Given the description of an element on the screen output the (x, y) to click on. 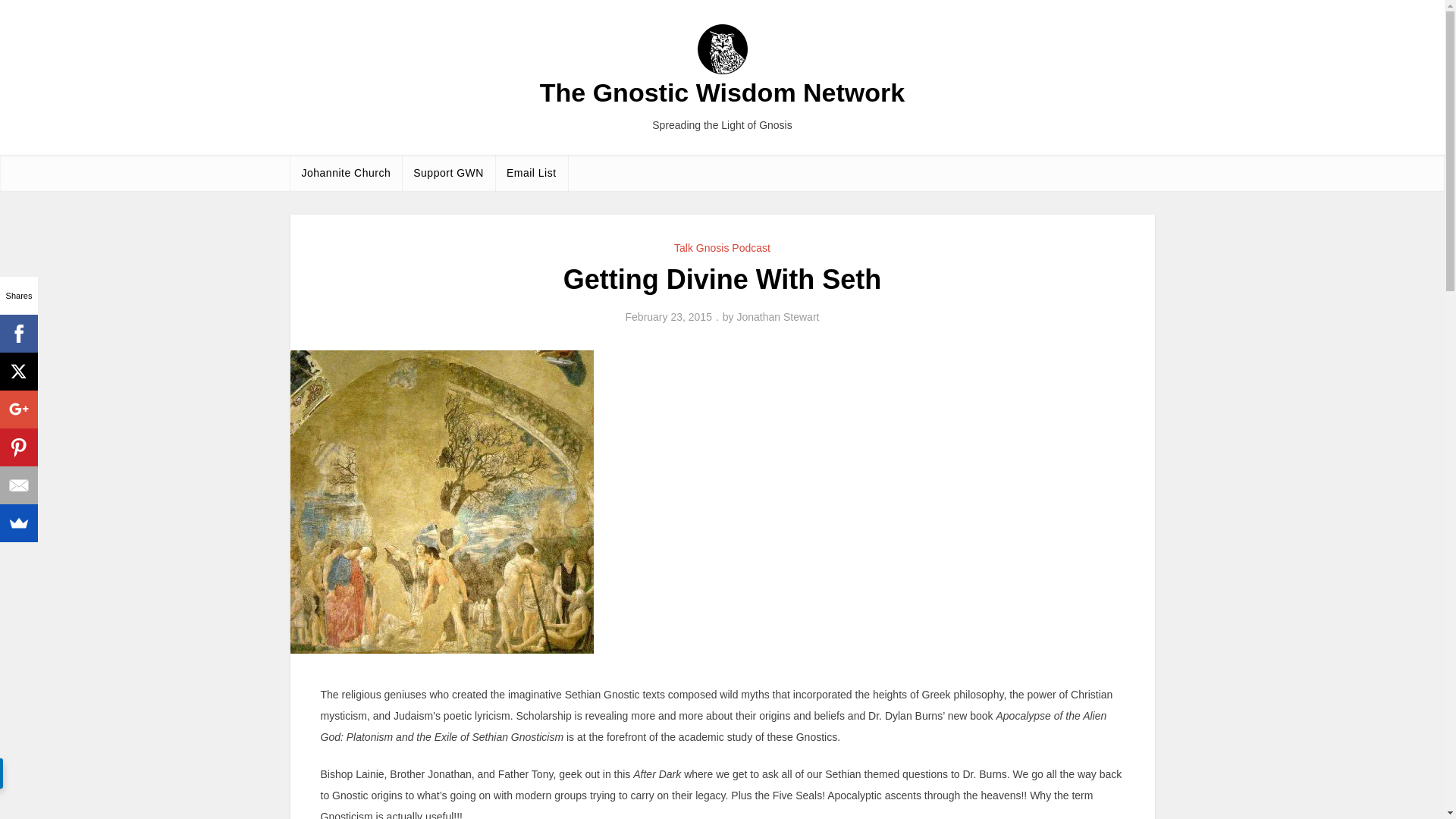
The Gnostic Wisdom Network (722, 92)
Pinterest (18, 447)
Facebook (18, 333)
Johannite Church (345, 172)
Support GWN (448, 172)
Email (18, 485)
February 23, 2015 (668, 316)
Jonathan Stewart (777, 316)
X (18, 371)
SumoMe (18, 523)
Talk Gnosis Podcast (722, 247)
Email List (531, 172)
